Given the description of an element on the screen output the (x, y) to click on. 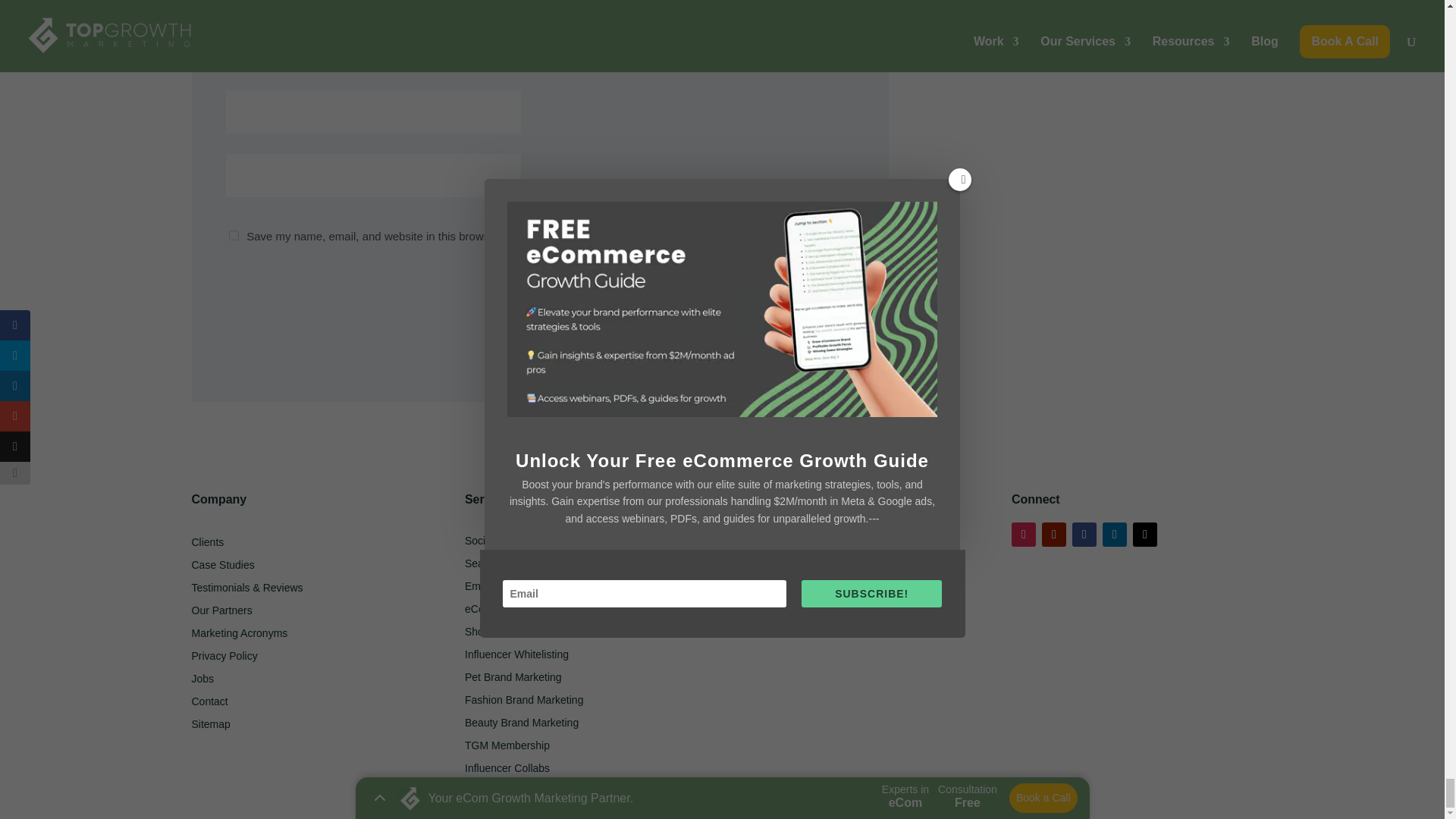
Follow on LinkedIn (1114, 534)
yes (233, 235)
Follow on Instagram (1023, 534)
Follow on X (1144, 534)
Follow on Youtube (1053, 534)
Follow on Facebook (1083, 534)
